Given the description of an element on the screen output the (x, y) to click on. 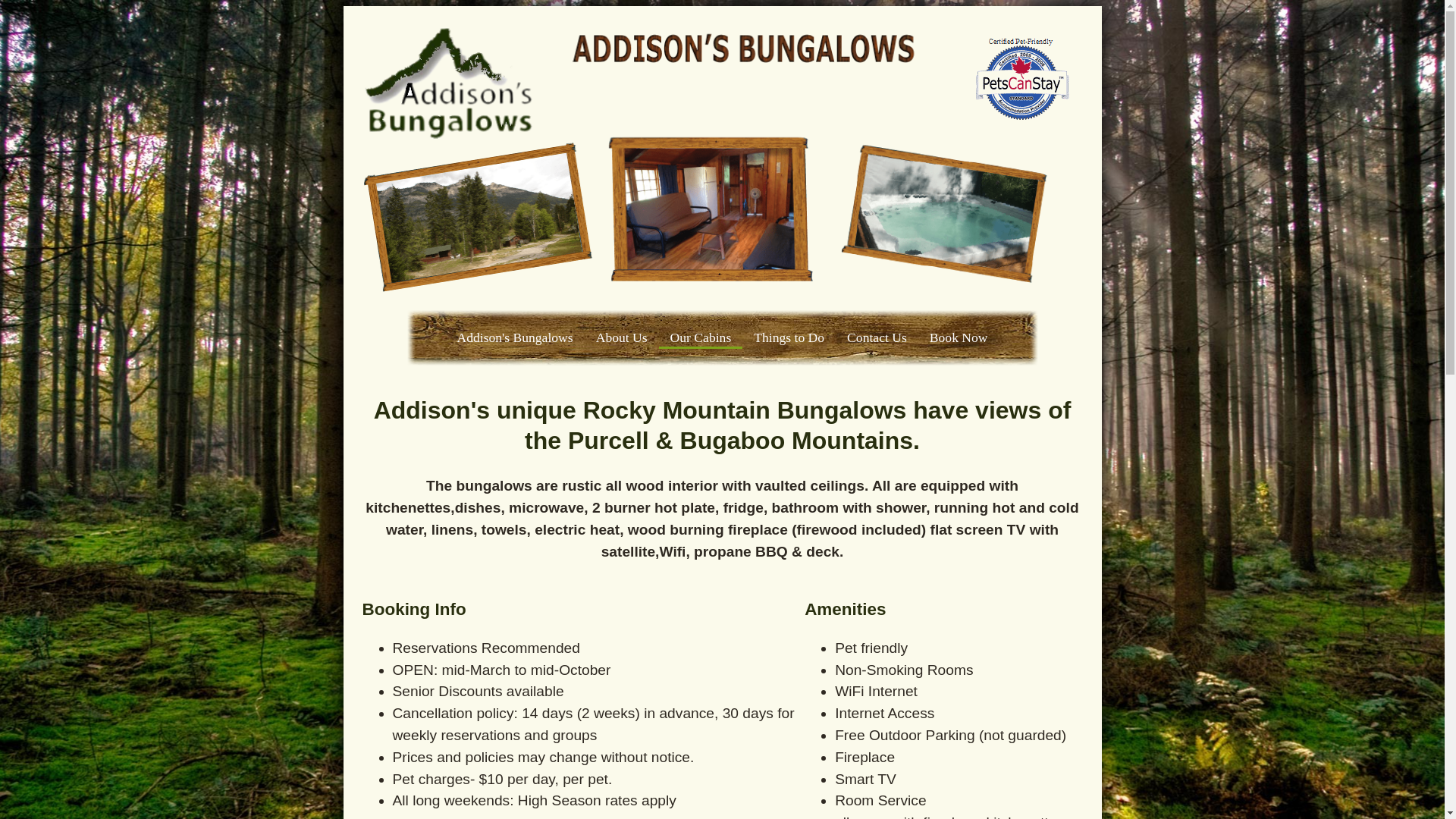
Addison's Bungalows Element type: text (514, 337)
Book Now Element type: text (958, 337)
Contact Us Element type: text (876, 337)
Our Cabins Element type: text (700, 337)
About Us Element type: text (621, 337)
Things to Do Element type: text (788, 337)
